Given the description of an element on the screen output the (x, y) to click on. 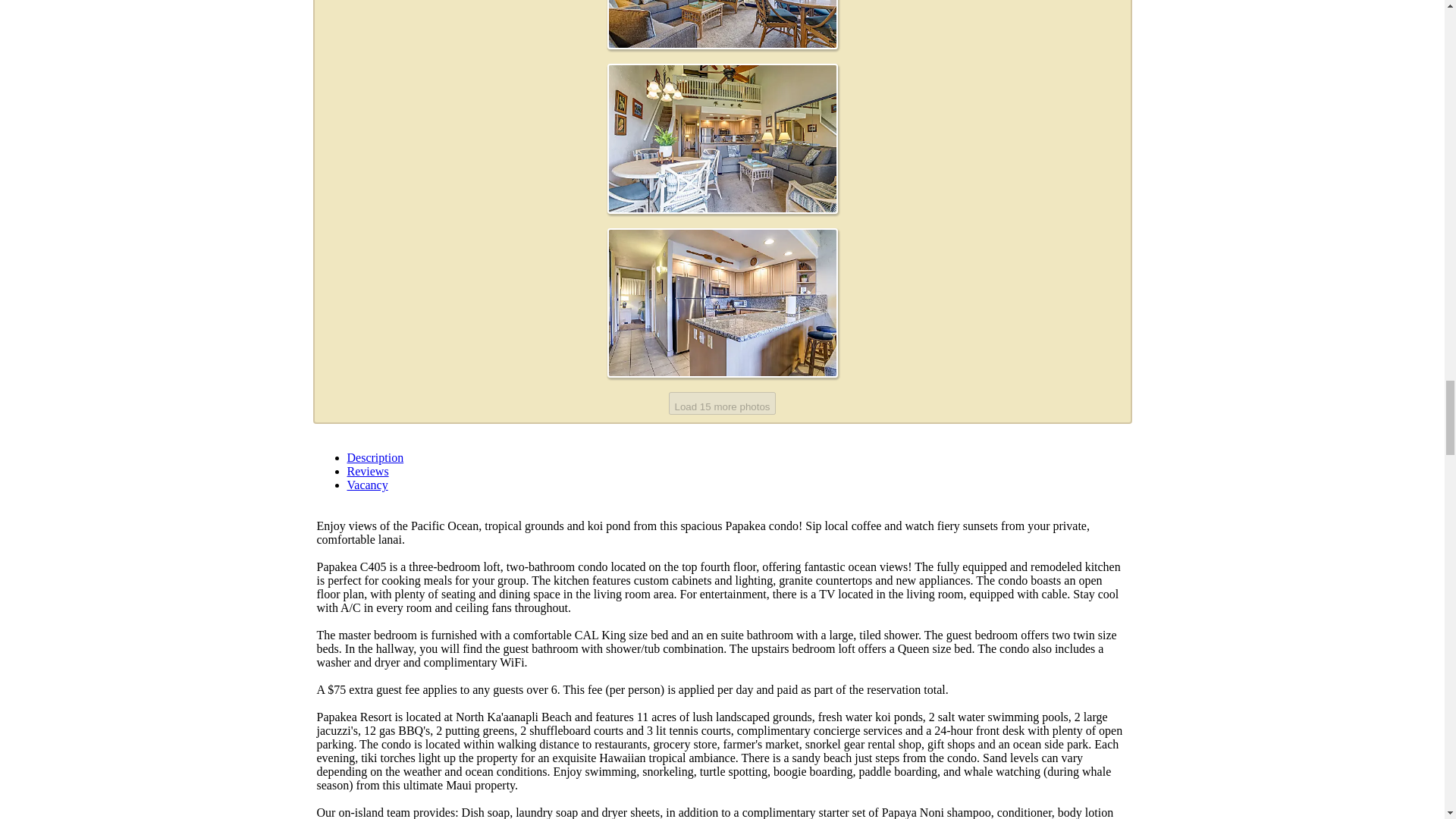
Load 15 more photos (722, 403)
